Given the description of an element on the screen output the (x, y) to click on. 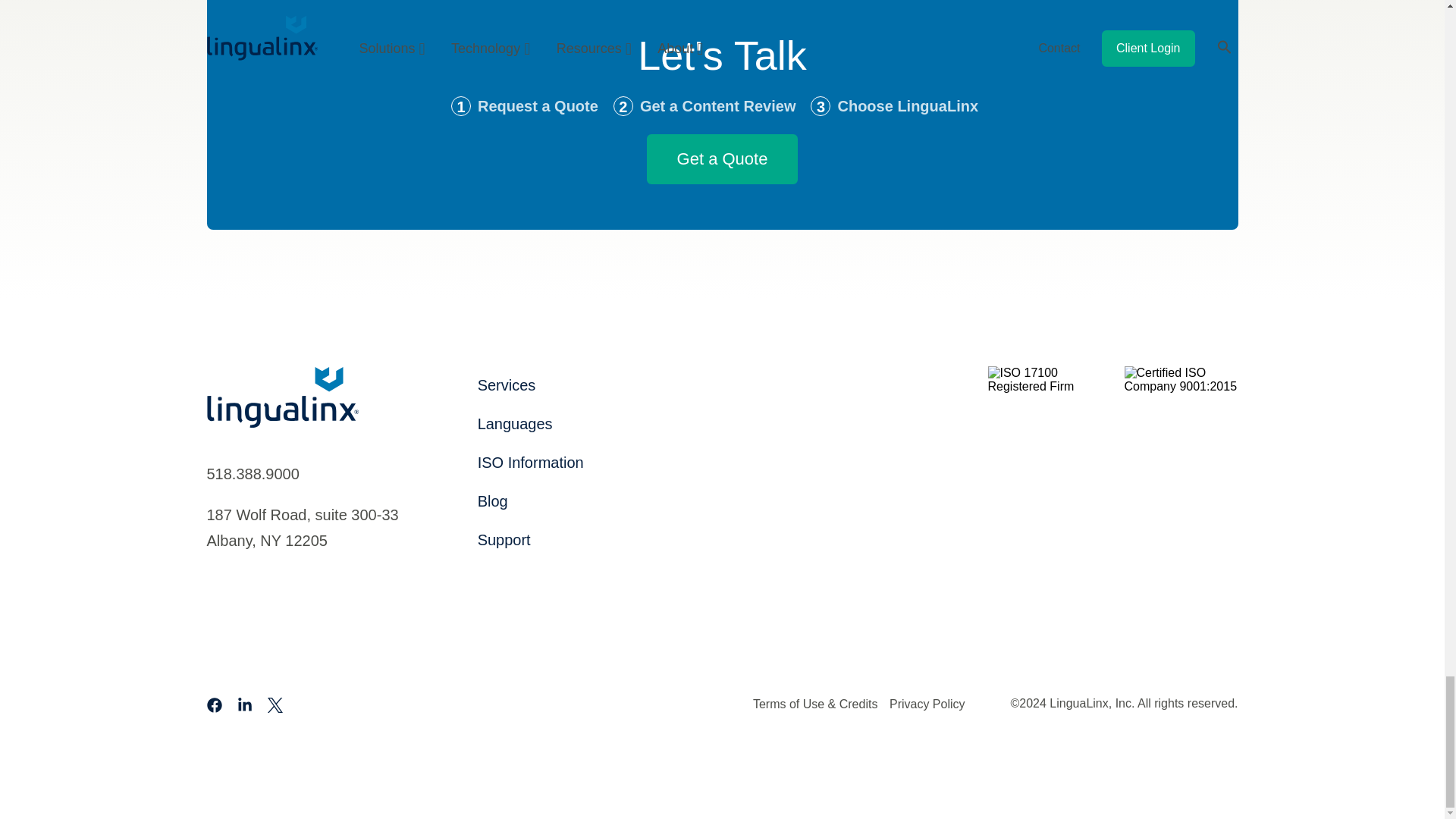
Get a Quote (721, 159)
